Given the description of an element on the screen output the (x, y) to click on. 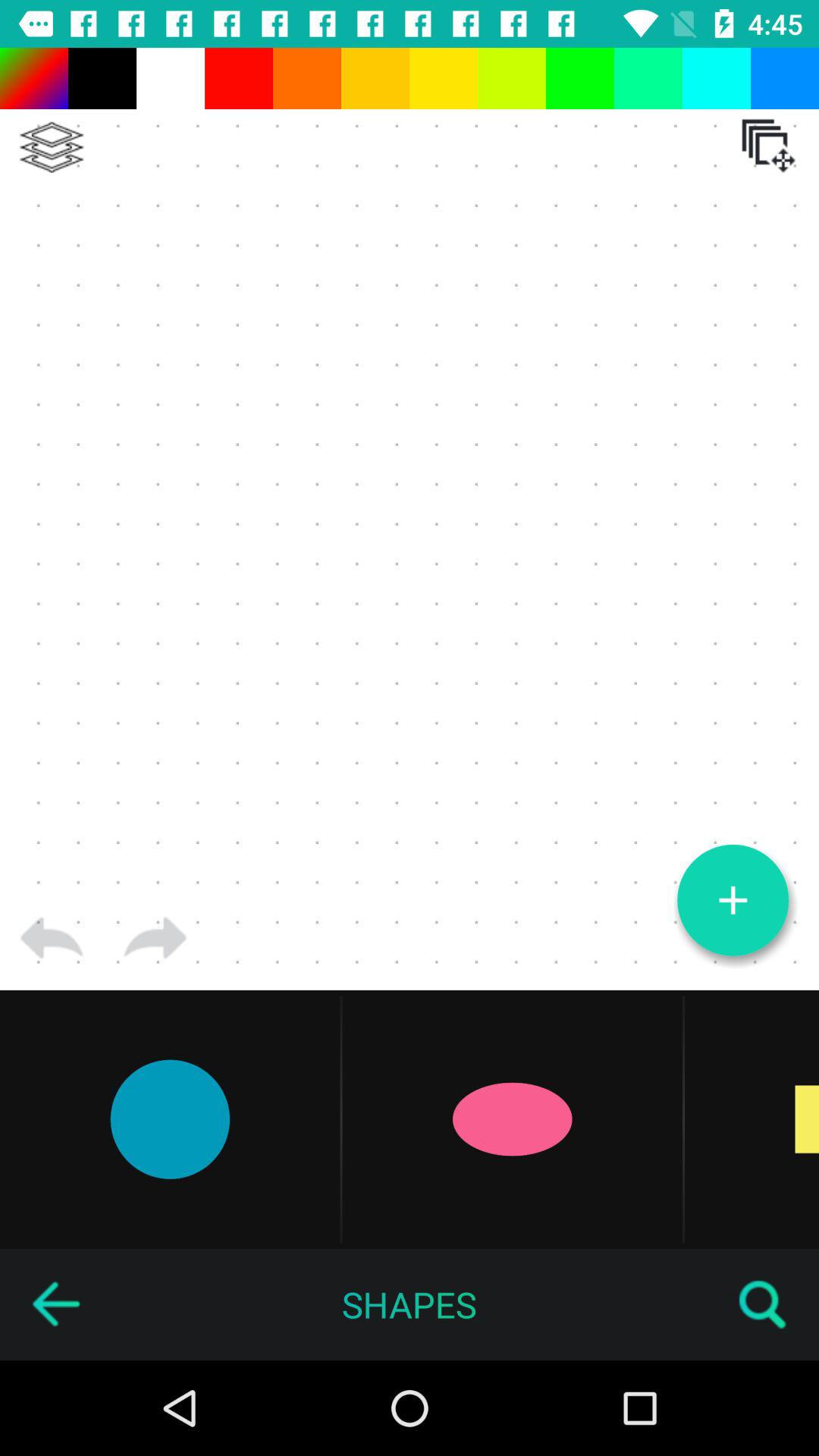
expand layers (51, 147)
